Given the description of an element on the screen output the (x, y) to click on. 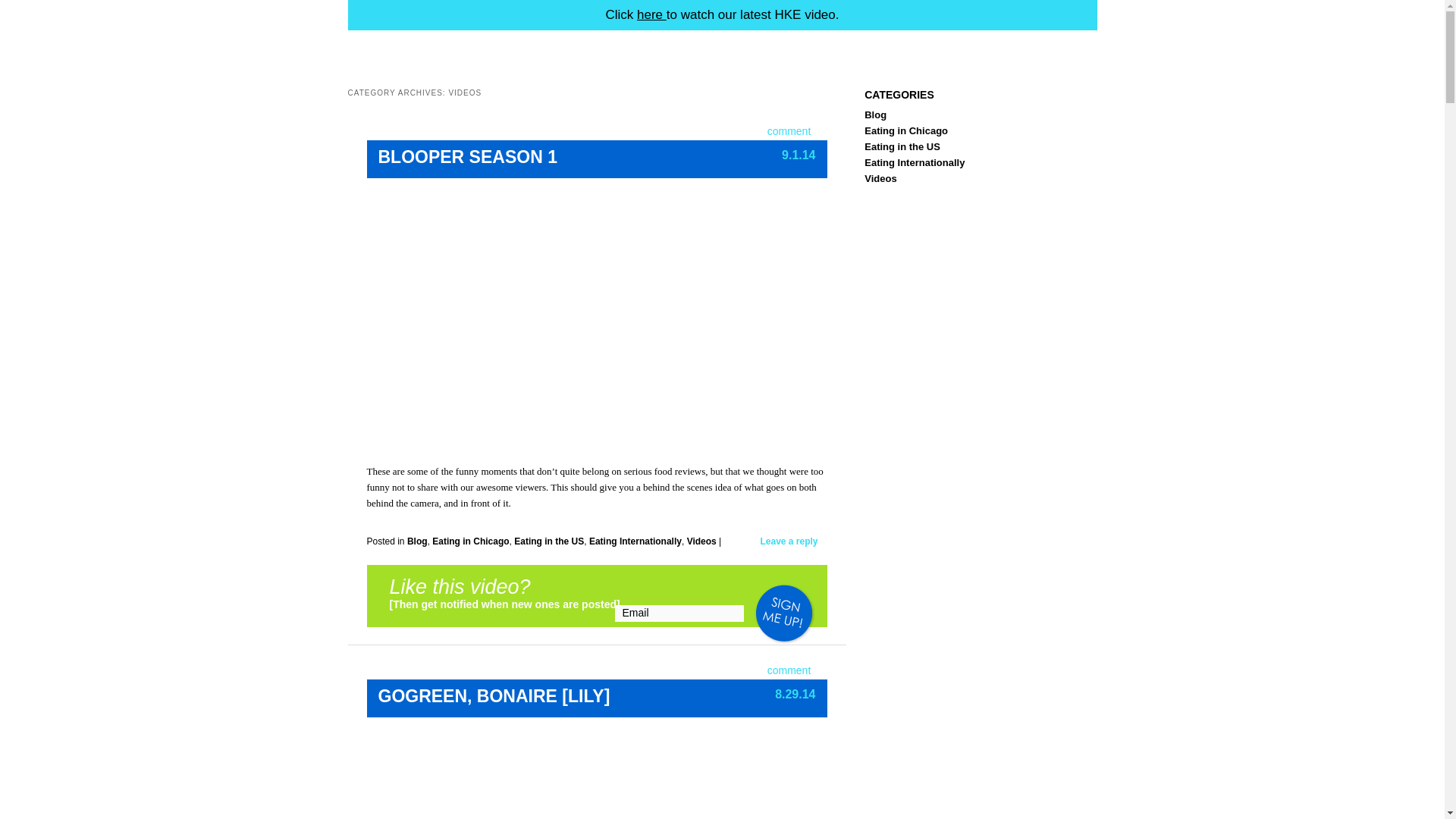
here (651, 14)
ABOUT (456, 47)
Permalink to Blooper Season 1 (466, 157)
BLOOPER SEASON 1 (466, 157)
Email (679, 613)
Leave a reply (788, 541)
Blog (417, 541)
Eating Internationally (635, 541)
comment (788, 670)
HappyKidsEat Reviews GoGreen Bonaire (587, 775)
